Given the description of an element on the screen output the (x, y) to click on. 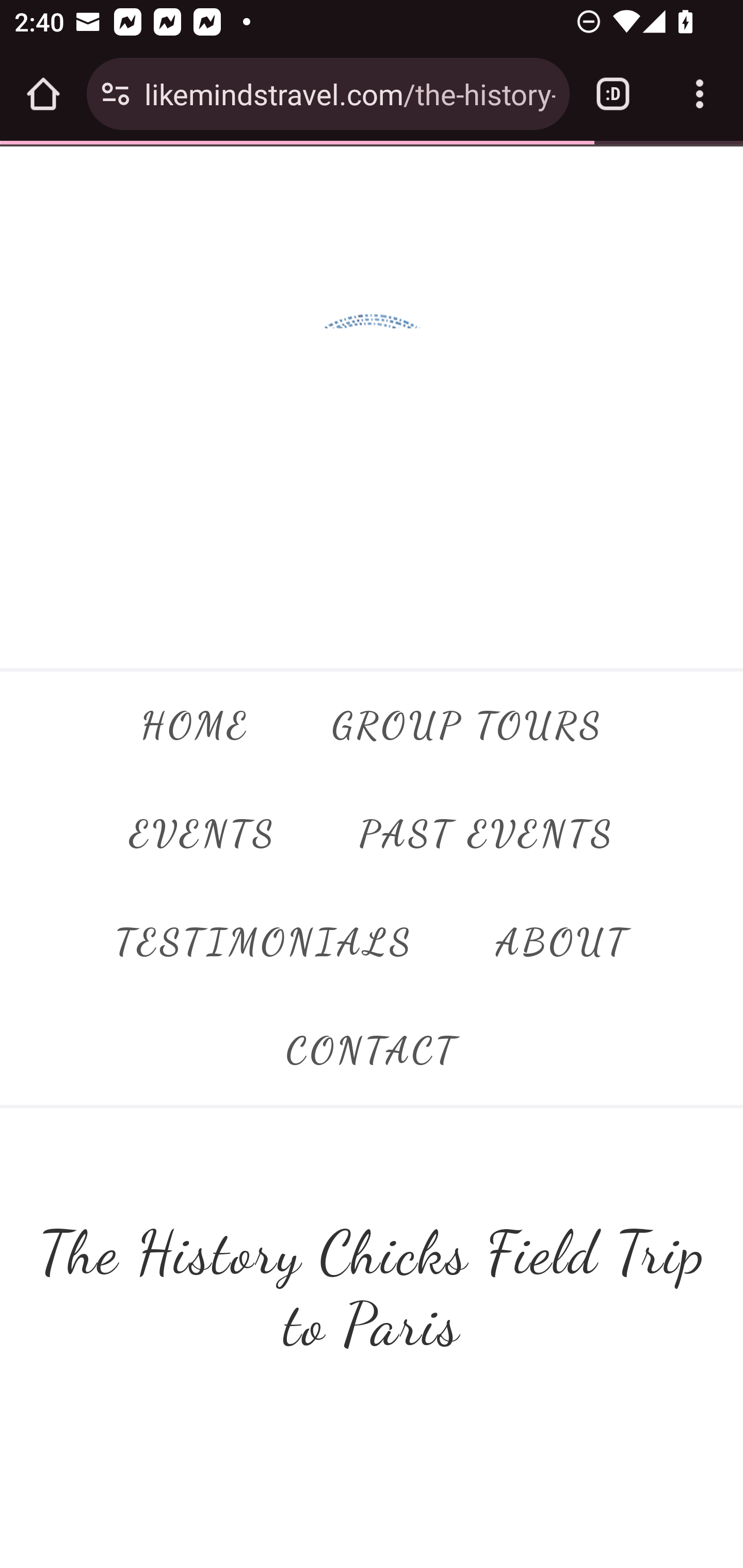
Open the home page (43, 93)
Connection is secure (115, 93)
Switch or close tabs (612, 93)
Customize and control Google Chrome (699, 93)
HOME (194, 725)
GROUP TOURS (467, 725)
EVENTS (203, 834)
PAST EVENTS (486, 834)
TESTIMONIALS (264, 942)
ABOUT (562, 942)
CONTACT (371, 1051)
